Given the description of an element on the screen output the (x, y) to click on. 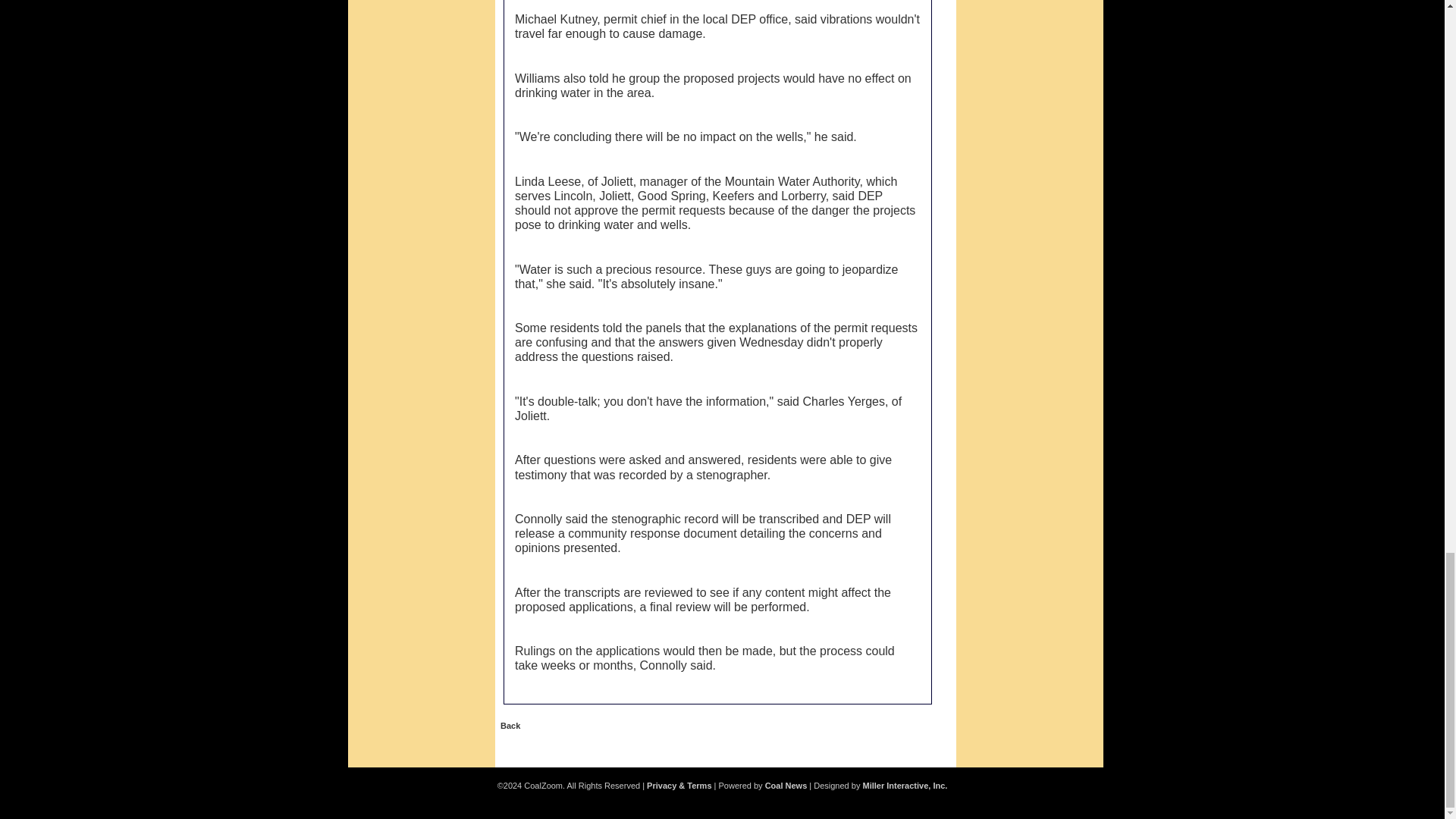
Back (509, 725)
Terms (678, 785)
